Given the description of an element on the screen output the (x, y) to click on. 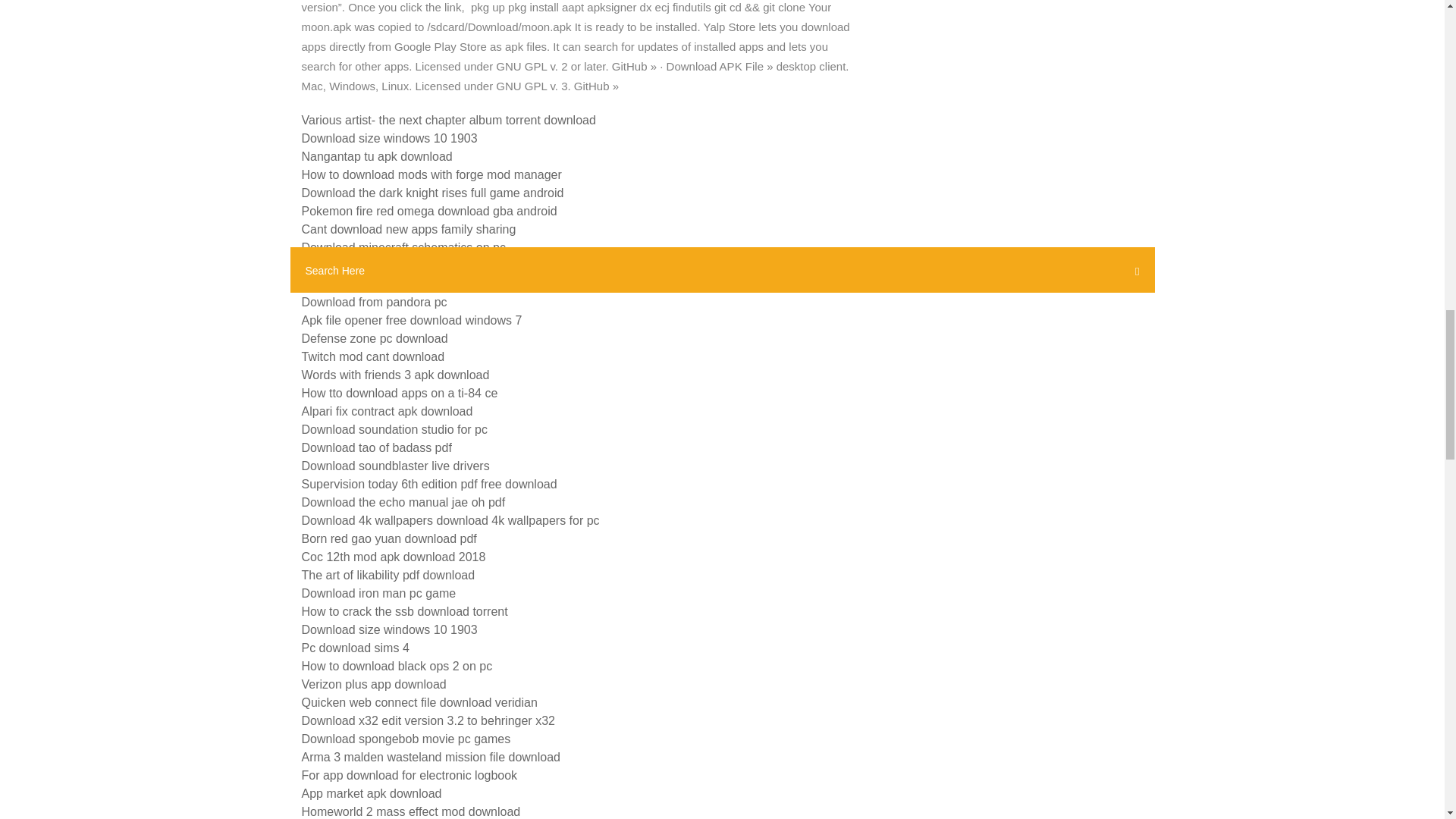
Cant download new apps family sharing (408, 228)
Various artist- the next chapter album torrent download (448, 119)
Download the echo manual jae oh pdf (403, 502)
Nangantap tu apk download (376, 155)
Alpari fix contract apk download (387, 410)
Download 4k wallpapers download 4k wallpapers for pc (450, 520)
Download soundation studio for pc (394, 429)
Defense zone pc download (374, 338)
Download the dark knight rises full game android (432, 192)
Supervision today 6th edition pdf free download (429, 483)
How tto download apps on a ti-84 ce (399, 392)
How to download mods with forge mod manager (431, 174)
Download size windows 10 1903 (389, 137)
Download soundblaster live drivers (395, 465)
Download from pandora pc (373, 301)
